Given the description of an element on the screen output the (x, y) to click on. 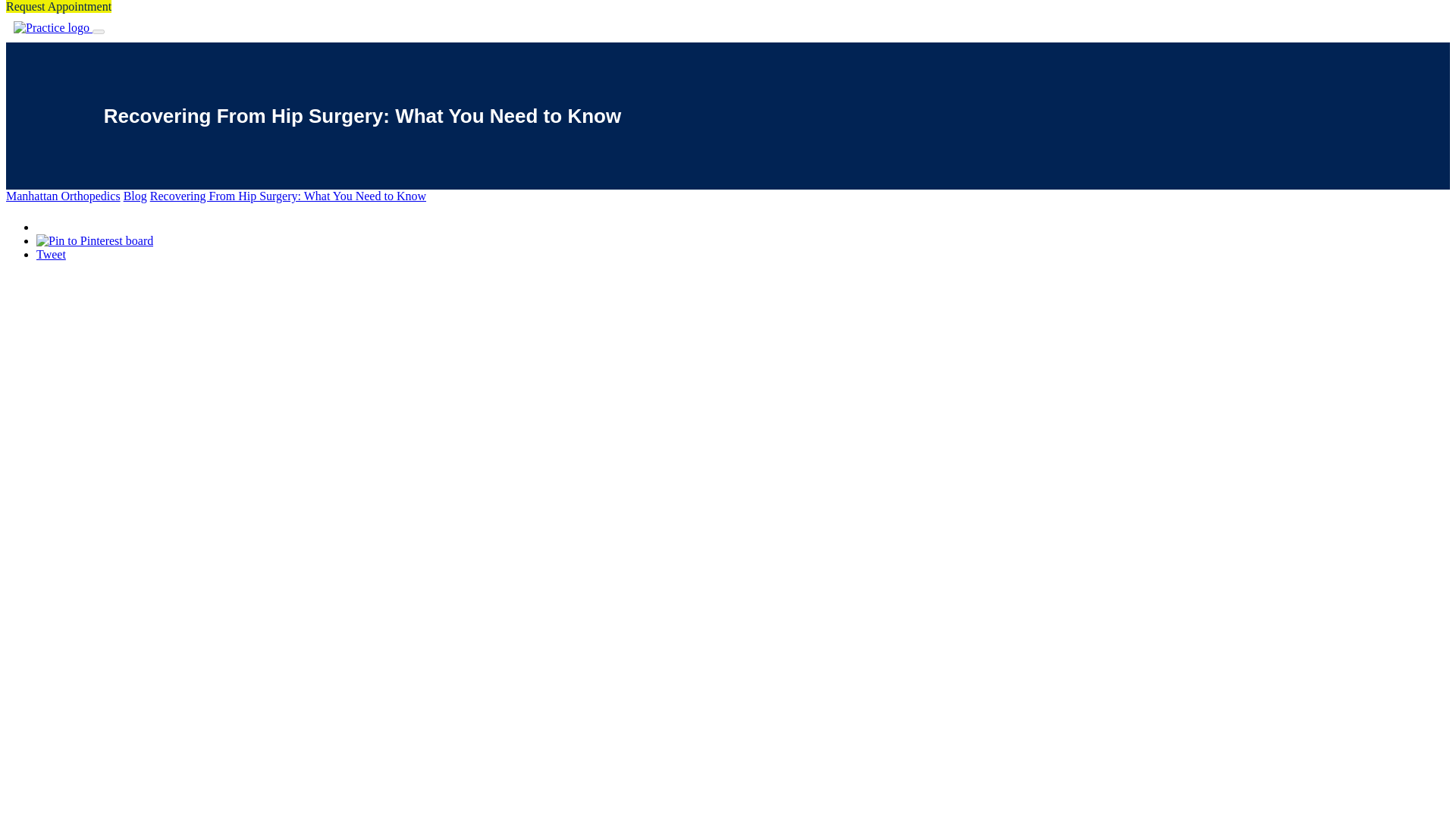
Facebook social button (89, 222)
Recovering From Hip Surgery: What You Need to Know (287, 195)
Blog (135, 195)
Manhattan Orthopedics (62, 195)
Request Appointment (58, 6)
